Given the description of an element on the screen output the (x, y) to click on. 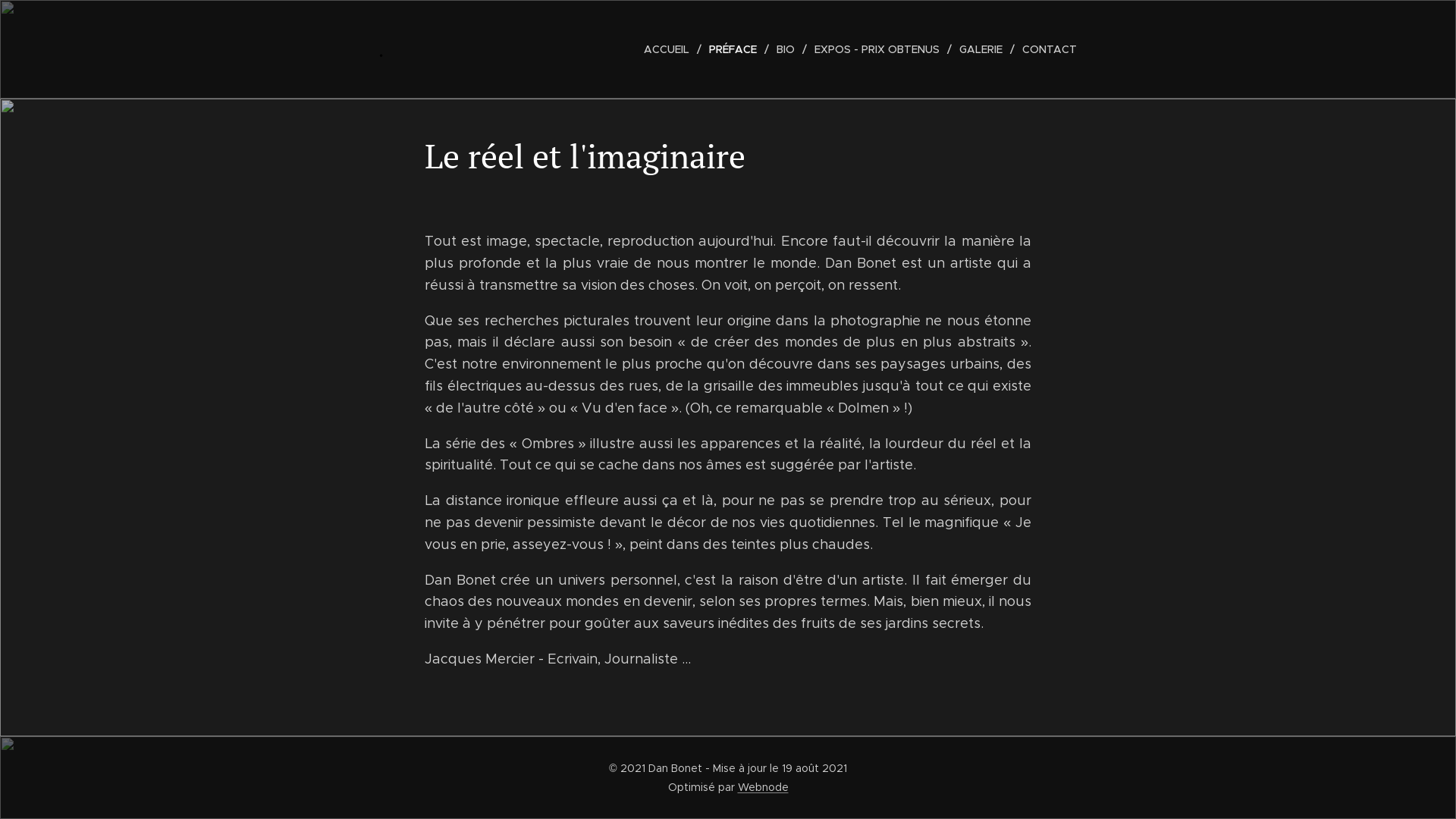
Webnode Element type: text (762, 786)
CONTACT Element type: text (1045, 49)
. Element type: text (379, 49)
EXPOS - PRIX OBTENUS Element type: text (878, 49)
BIO Element type: text (787, 49)
GALERIE Element type: text (982, 49)
ACCUEIL Element type: text (670, 49)
